Given the description of an element on the screen output the (x, y) to click on. 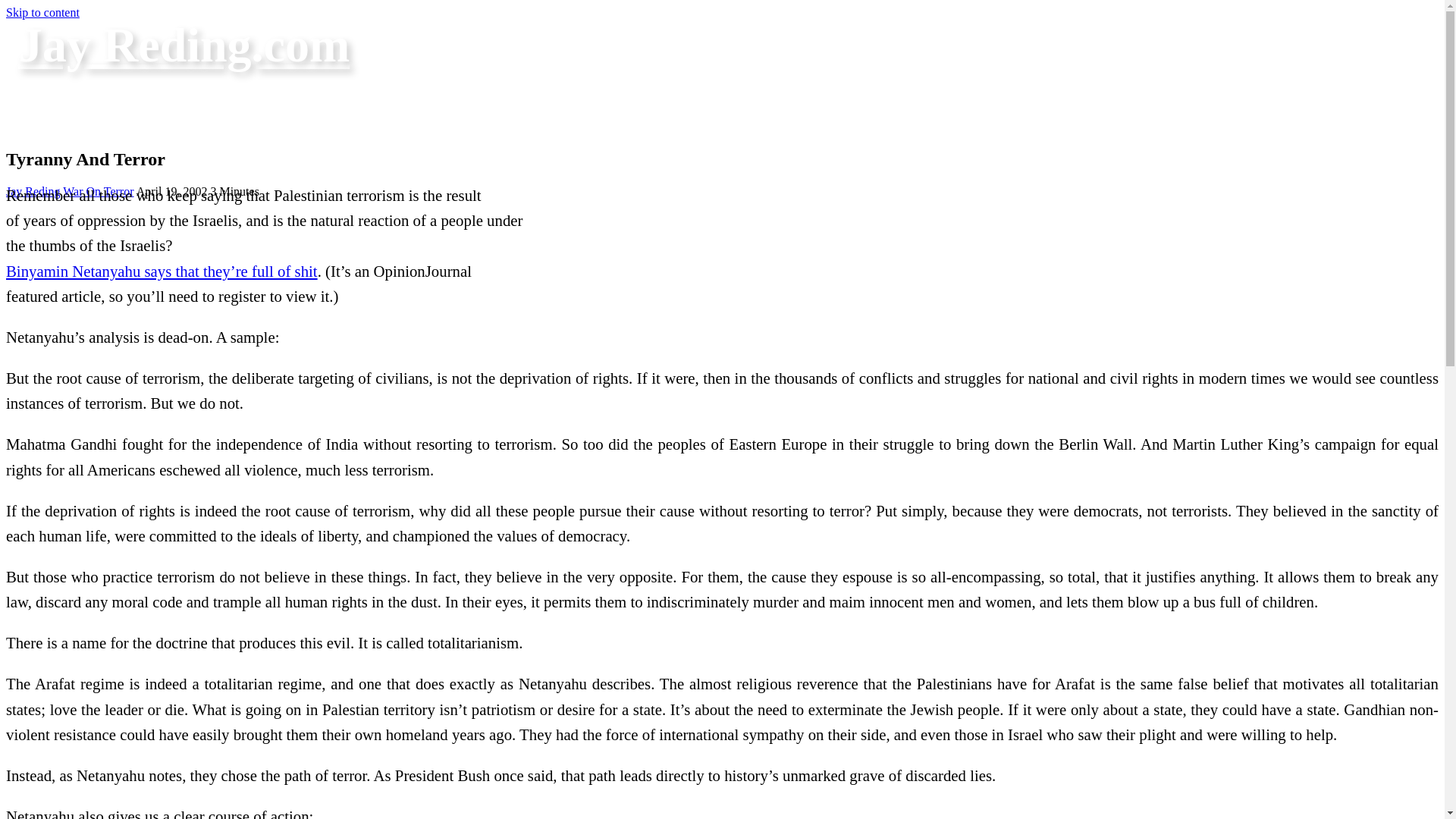
Jay Reding.com (183, 45)
Skip to content (42, 11)
Jay Reding (33, 191)
War On Terror (97, 191)
Posts by Jay Reding (33, 191)
